Given the description of an element on the screen output the (x, y) to click on. 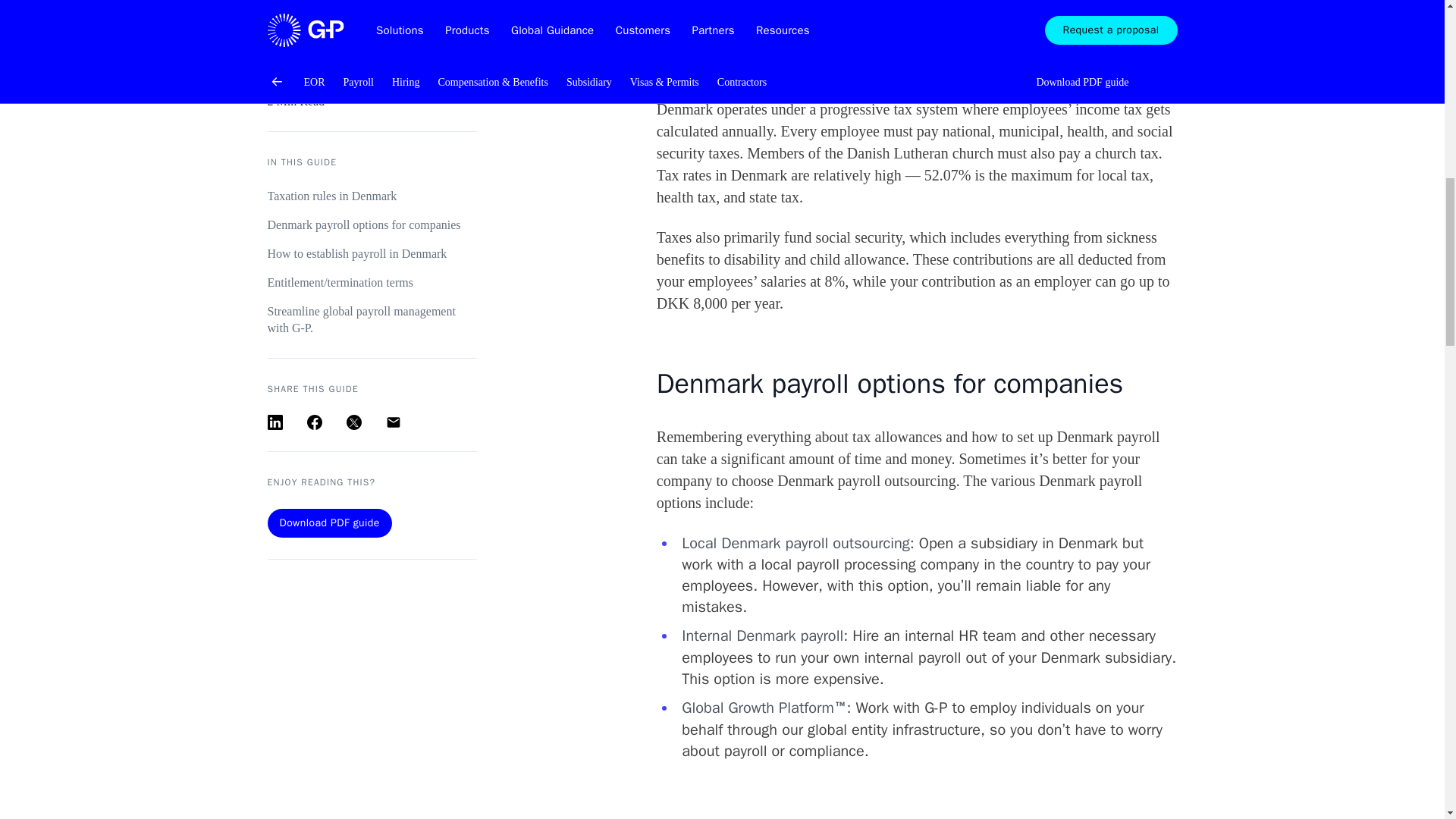
Denmark payroll options for companies (371, 51)
Taxation rules in Denmark (371, 22)
Streamline global payroll management with G-P. (371, 145)
How to establish payroll in Denmark (371, 80)
Download PDF guide (328, 348)
